Given the description of an element on the screen output the (x, y) to click on. 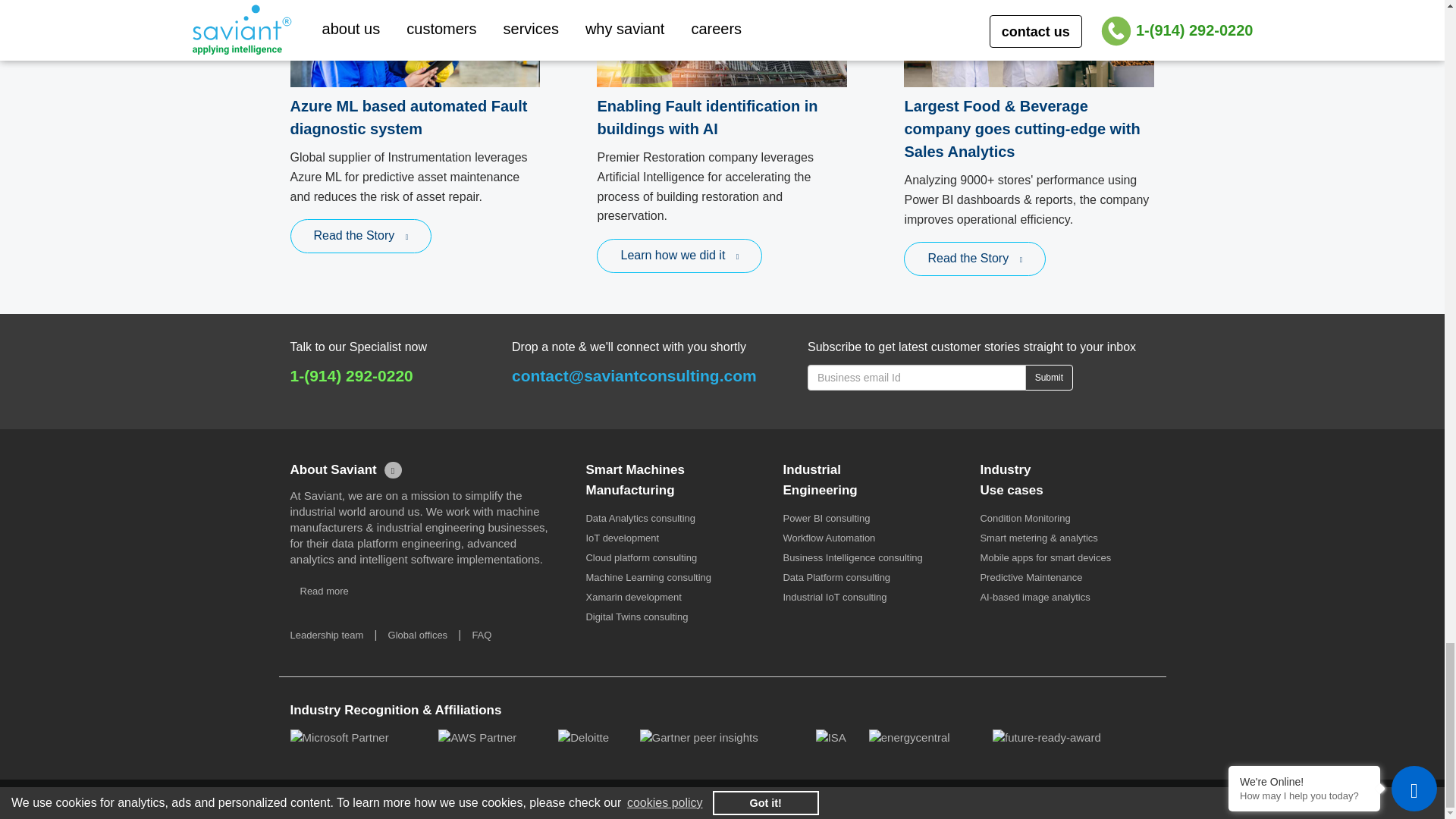
Submit (1049, 377)
